Given the description of an element on the screen output the (x, y) to click on. 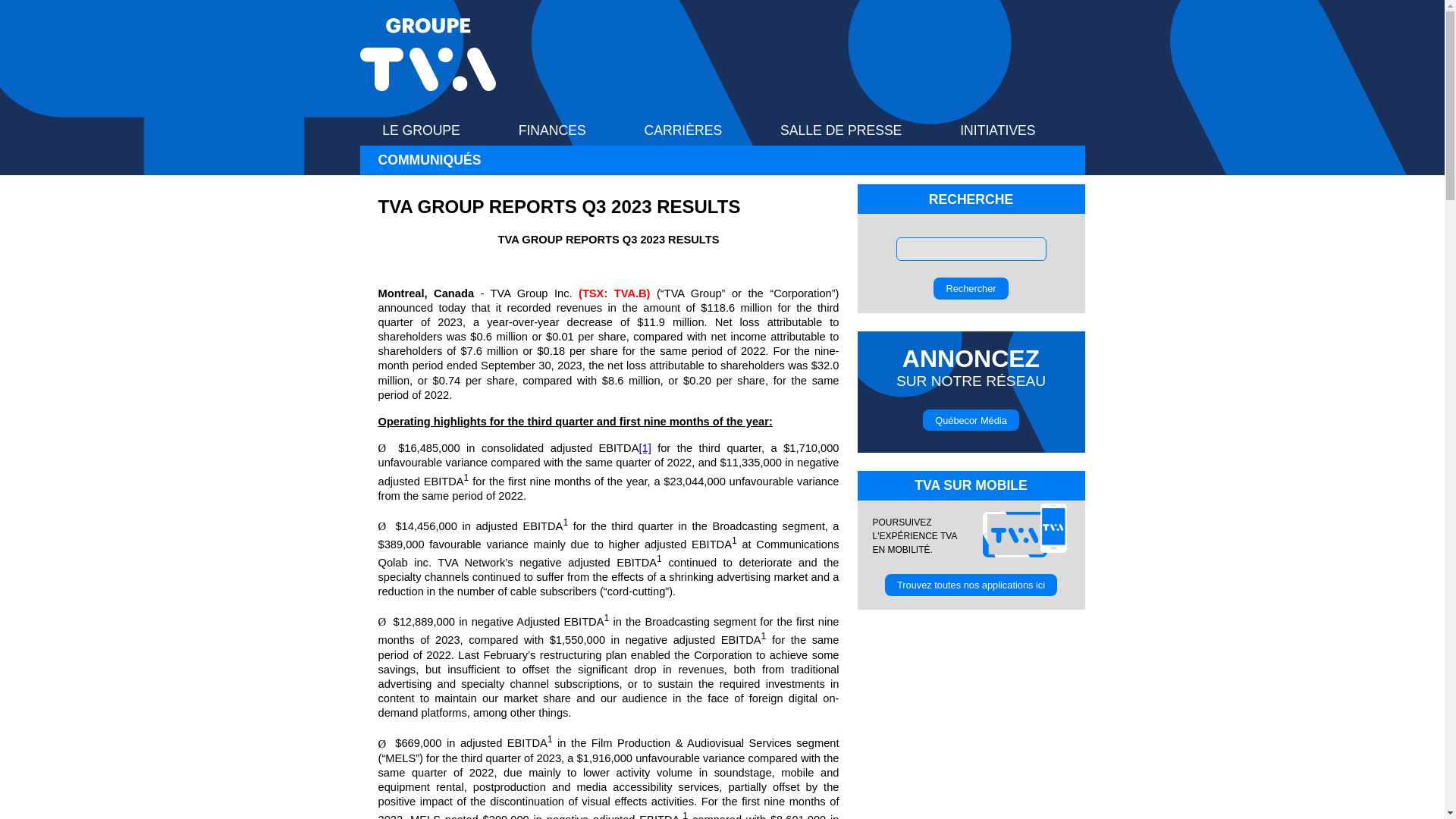
FINANCES (565, 130)
Rechercher (970, 288)
INITIATIVES (1010, 130)
LE GROUPE (434, 130)
SALLE DE PRESSE (854, 130)
